Given the description of an element on the screen output the (x, y) to click on. 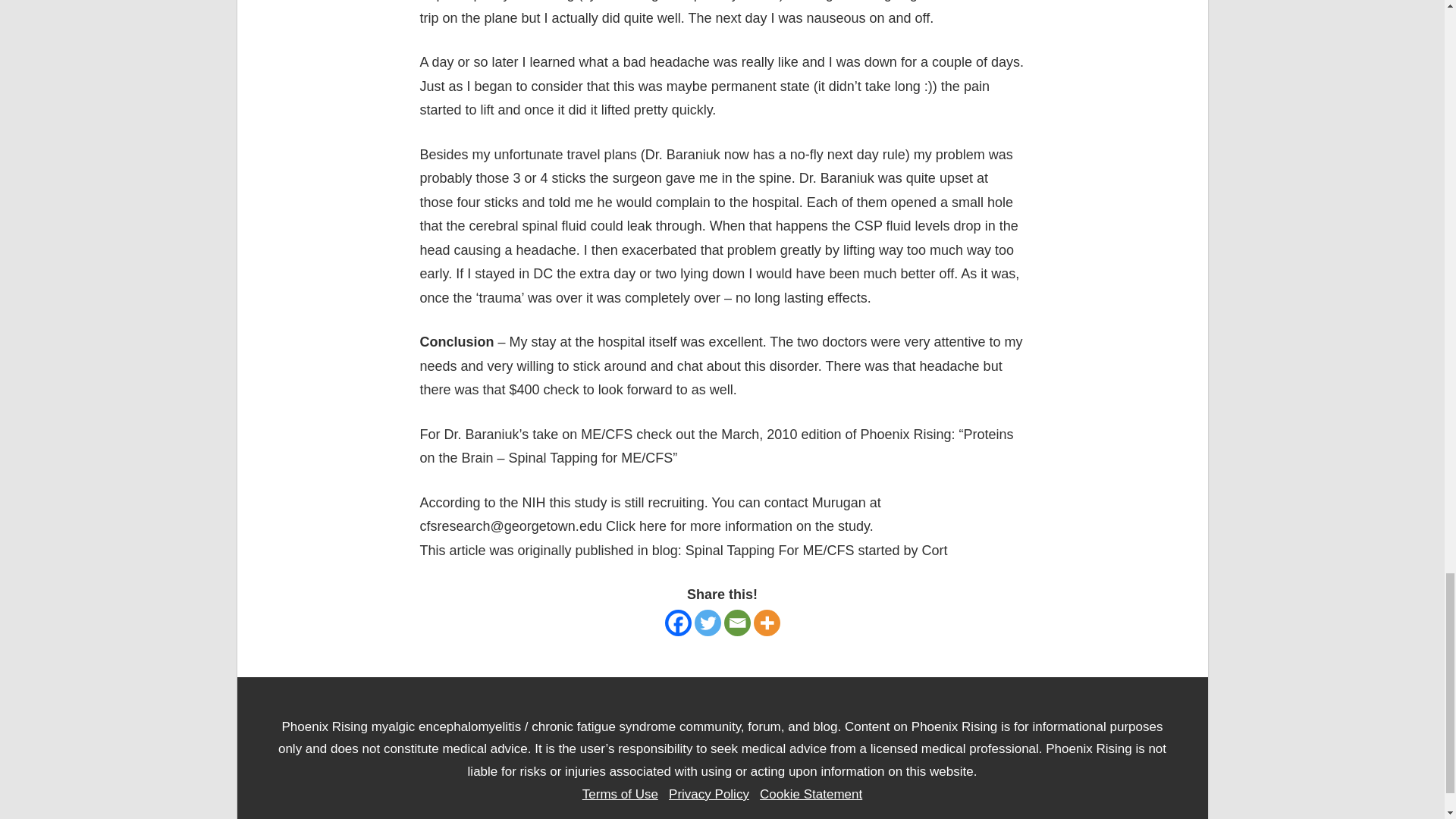
Email (736, 622)
Facebook (676, 622)
More (767, 622)
Twitter (707, 622)
